Given the description of an element on the screen output the (x, y) to click on. 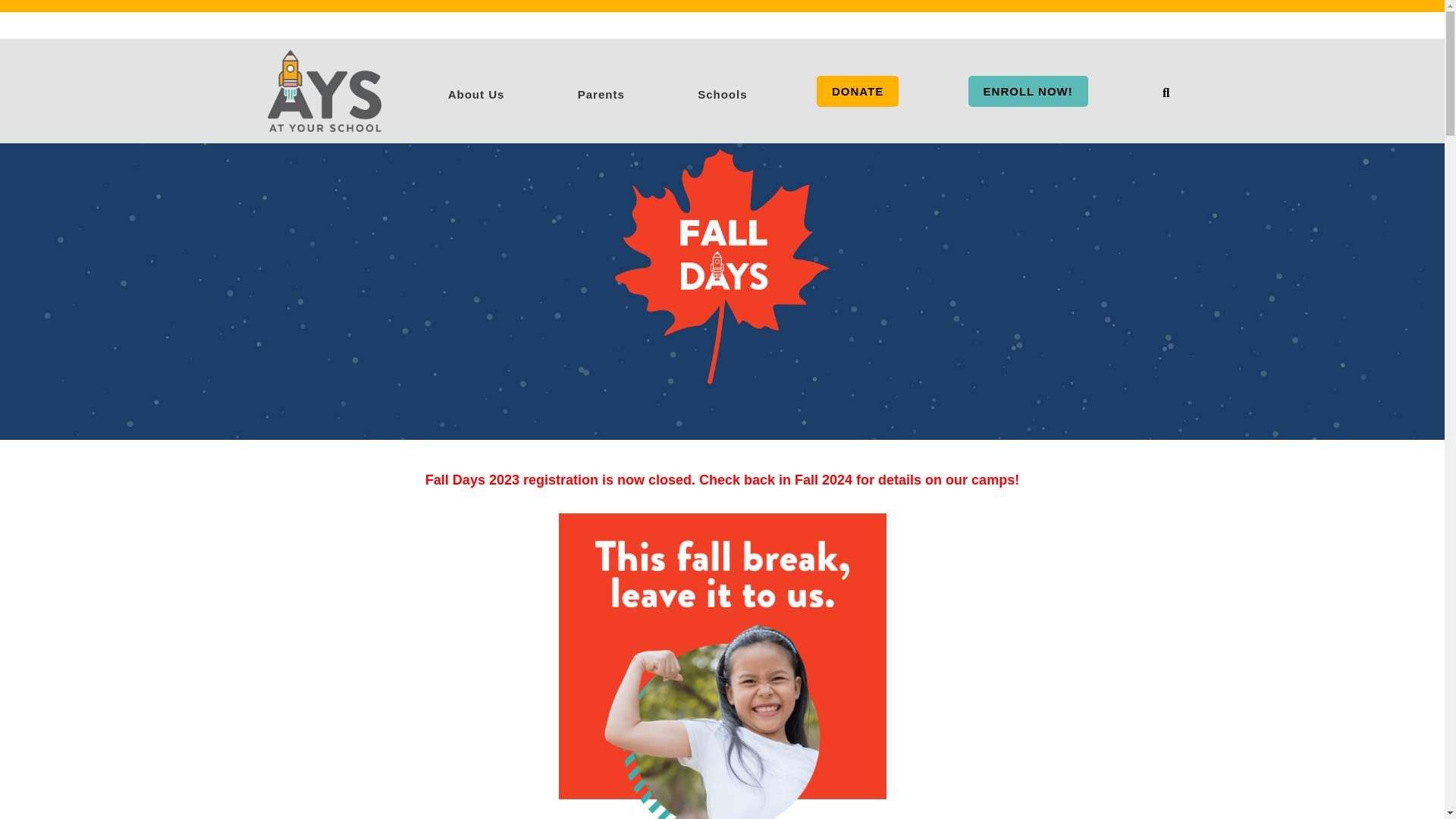
About Us (476, 90)
Parents (600, 90)
AYS, INC. (323, 90)
